Given the description of an element on the screen output the (x, y) to click on. 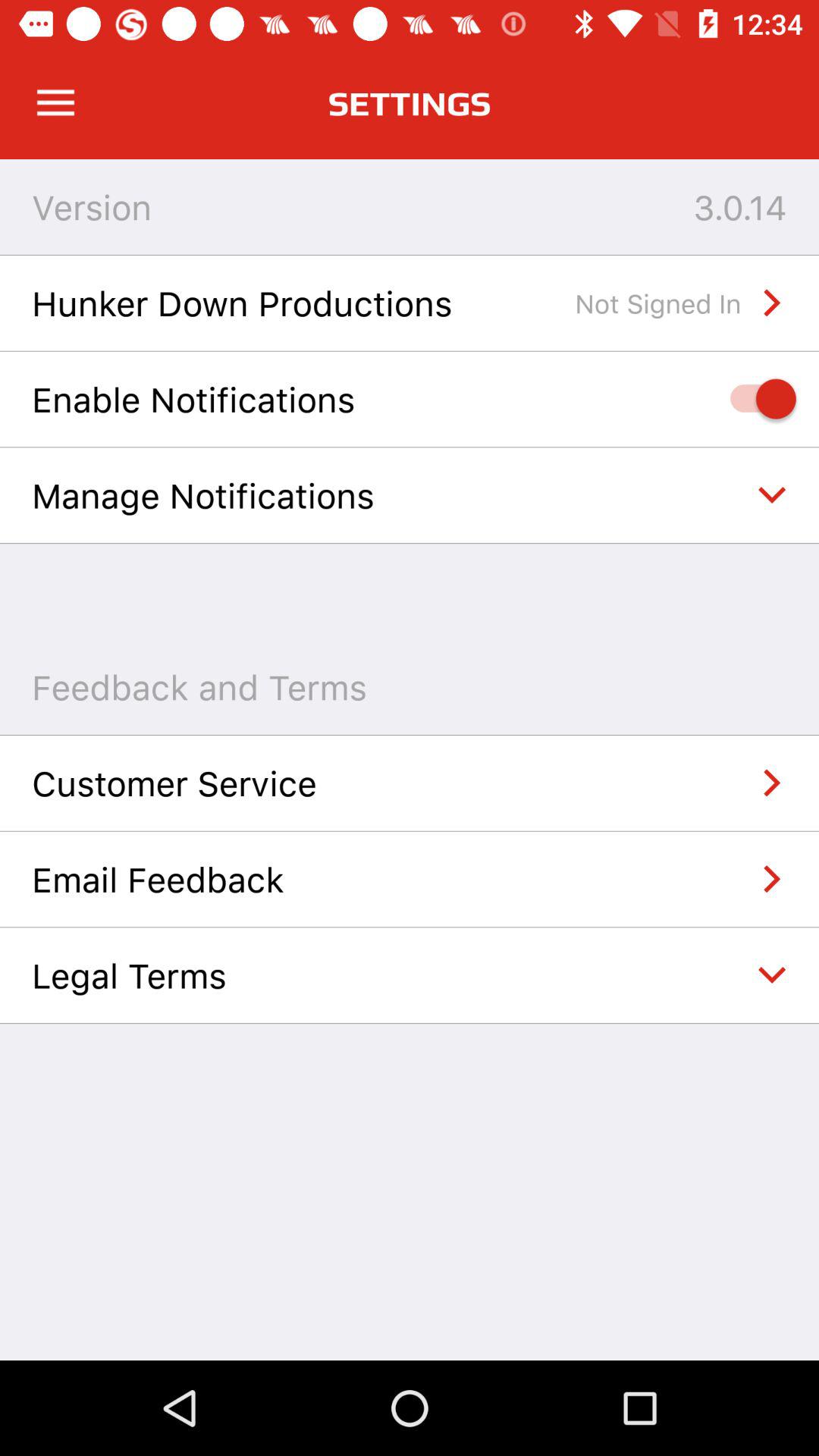
choose the icon at the top left corner (55, 103)
